Given the description of an element on the screen output the (x, y) to click on. 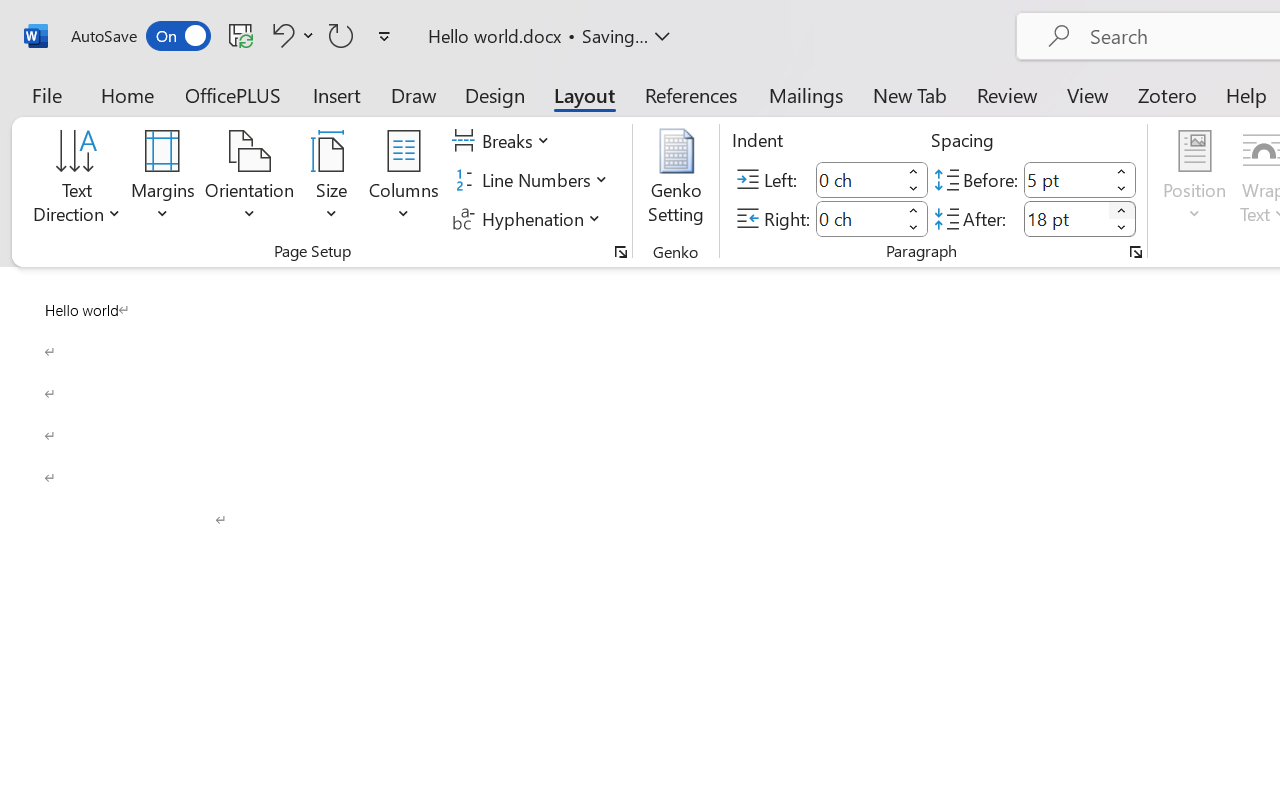
Undo Paragraph Formatting (290, 35)
Design (495, 94)
Orientation (250, 179)
Margins (163, 179)
Mailings (806, 94)
Quick Access Toolbar (233, 36)
Columns (404, 179)
More (1121, 210)
View (1087, 94)
References (690, 94)
Layout (584, 94)
New Tab (909, 94)
Hyphenation (529, 218)
Breaks (504, 141)
Undo Paragraph Formatting (280, 35)
